Given the description of an element on the screen output the (x, y) to click on. 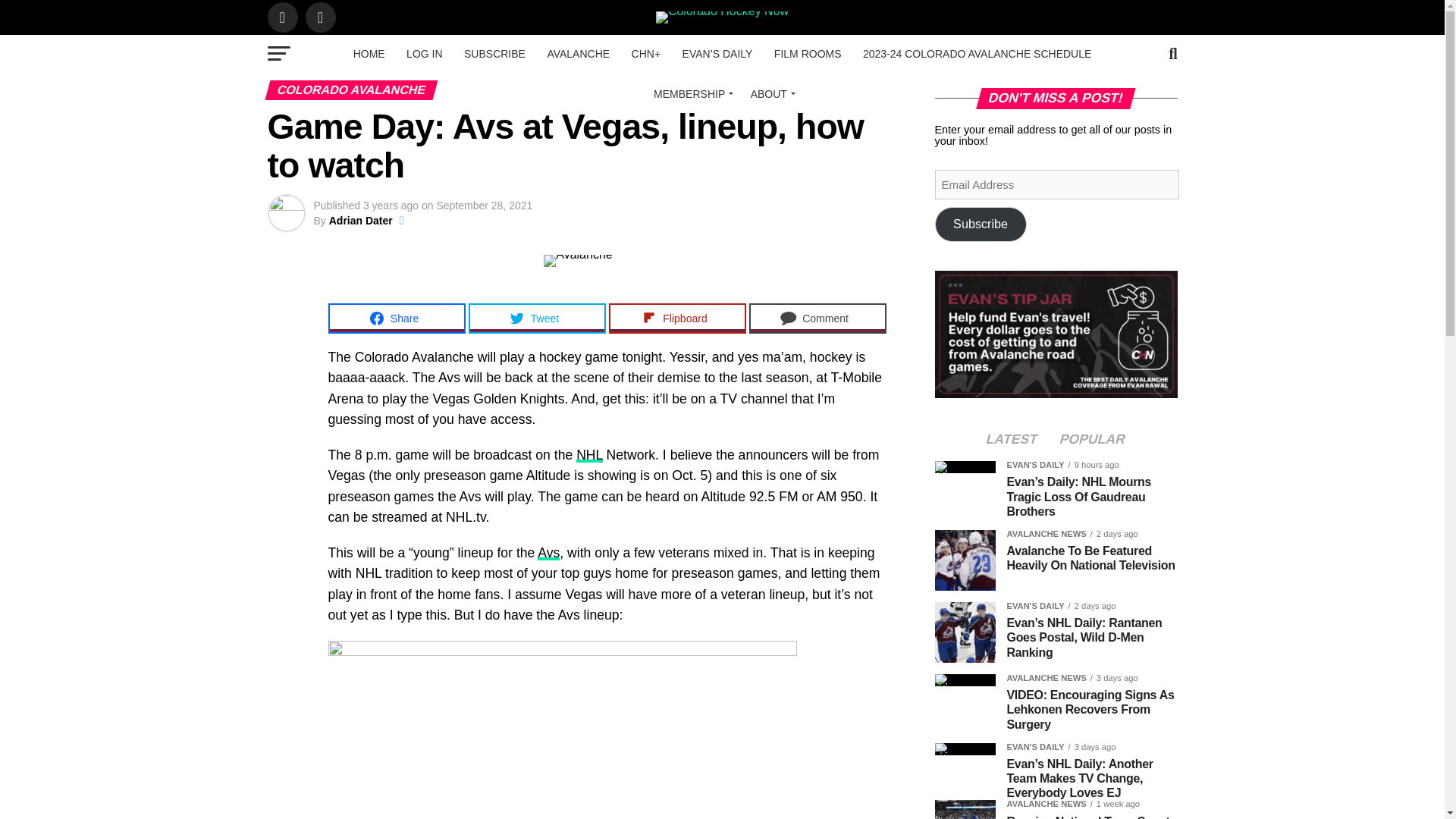
AVALANCHE (577, 53)
Share on Tweet (536, 318)
Posts by Adrian Dater (361, 220)
Share on Comment (817, 318)
LOG IN (424, 53)
Share on Share (395, 318)
SUBSCRIBE (494, 53)
HOME (368, 53)
Share on Flipboard (676, 318)
